Given the description of an element on the screen output the (x, y) to click on. 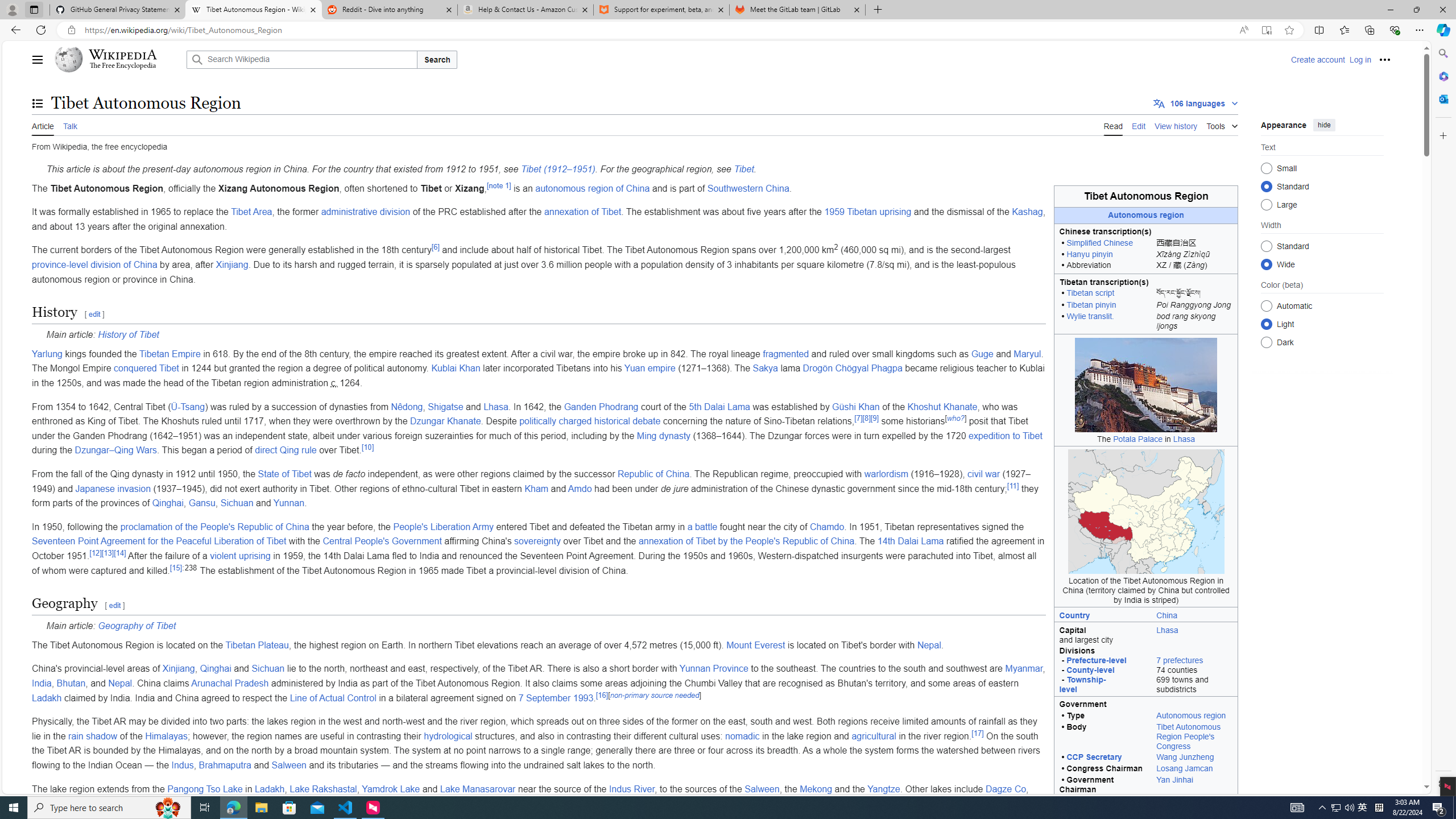
Prefecture-level (1095, 660)
China (1166, 614)
sovereignty (536, 541)
annexation of Tibet (582, 212)
Edit (1138, 124)
Yunnan Province (713, 668)
Read (1112, 124)
Country (1102, 614)
Article (42, 124)
Tibet Area (251, 212)
Tibet Autonomous Region (1145, 196)
